Given the description of an element on the screen output the (x, y) to click on. 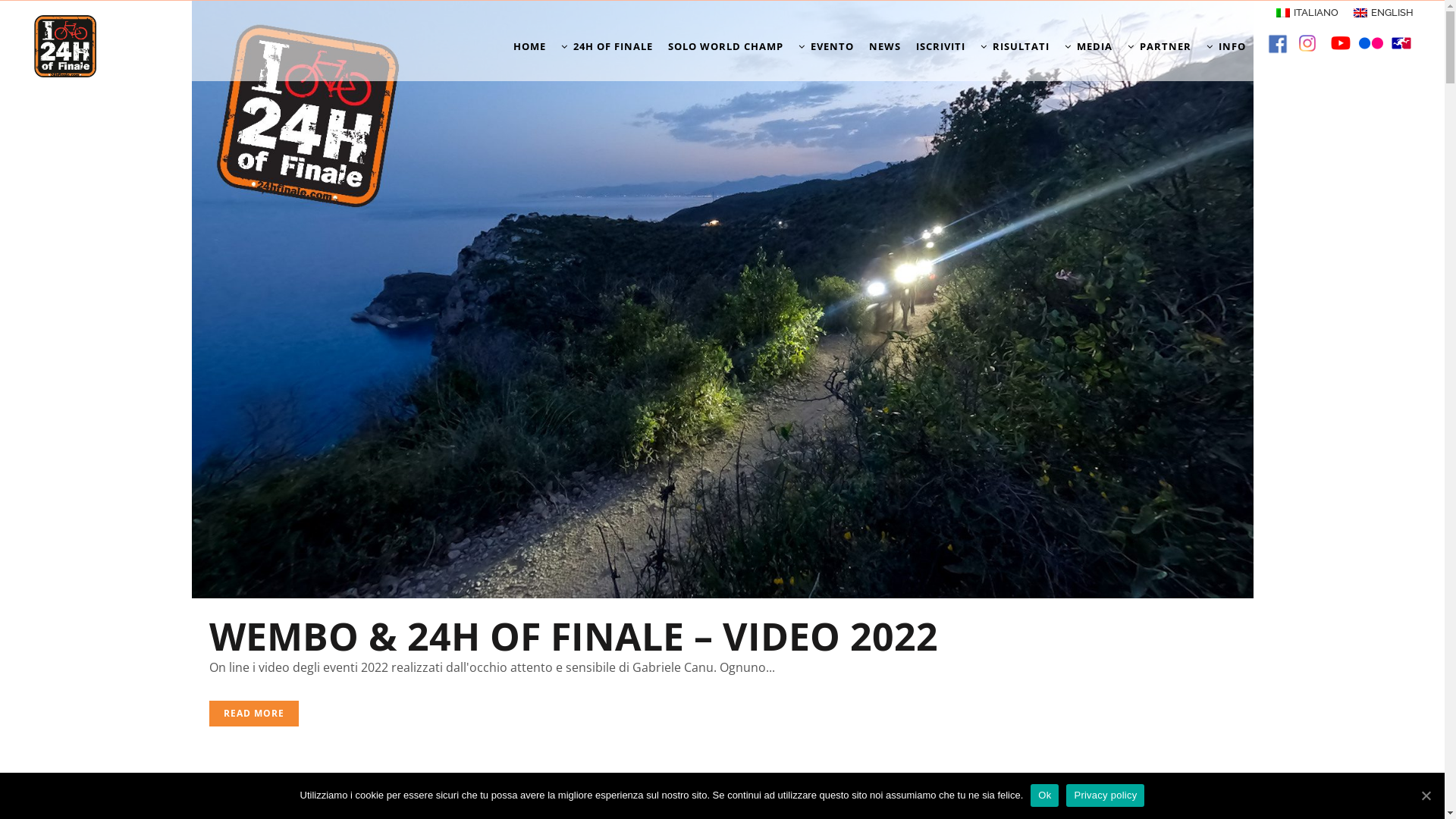
24H OF FINALE Element type: text (606, 46)
INFO Element type: text (1225, 46)
Privacy policy Element type: text (1105, 795)
ITALIANO Element type: text (1307, 12)
HOME Element type: text (529, 46)
RISULTATI Element type: text (1014, 46)
EVENTO Element type: text (825, 46)
Ok Element type: text (1044, 795)
SOLO WORLD CHAMP Element type: text (725, 46)
twitter Element type: hover (1307, 43)
ENGLISH Element type: text (1383, 12)
facebook Element type: hover (1277, 43)
MEDIA Element type: text (1088, 46)
flickr Element type: hover (1370, 43)
youtube Element type: hover (1340, 43)
NEWS Element type: text (884, 46)
READ MORE Element type: text (253, 713)
ISCRIVITI Element type: text (940, 46)
sportograf Element type: hover (1401, 43)
PARTNER Element type: text (1159, 46)
